Given the description of an element on the screen output the (x, y) to click on. 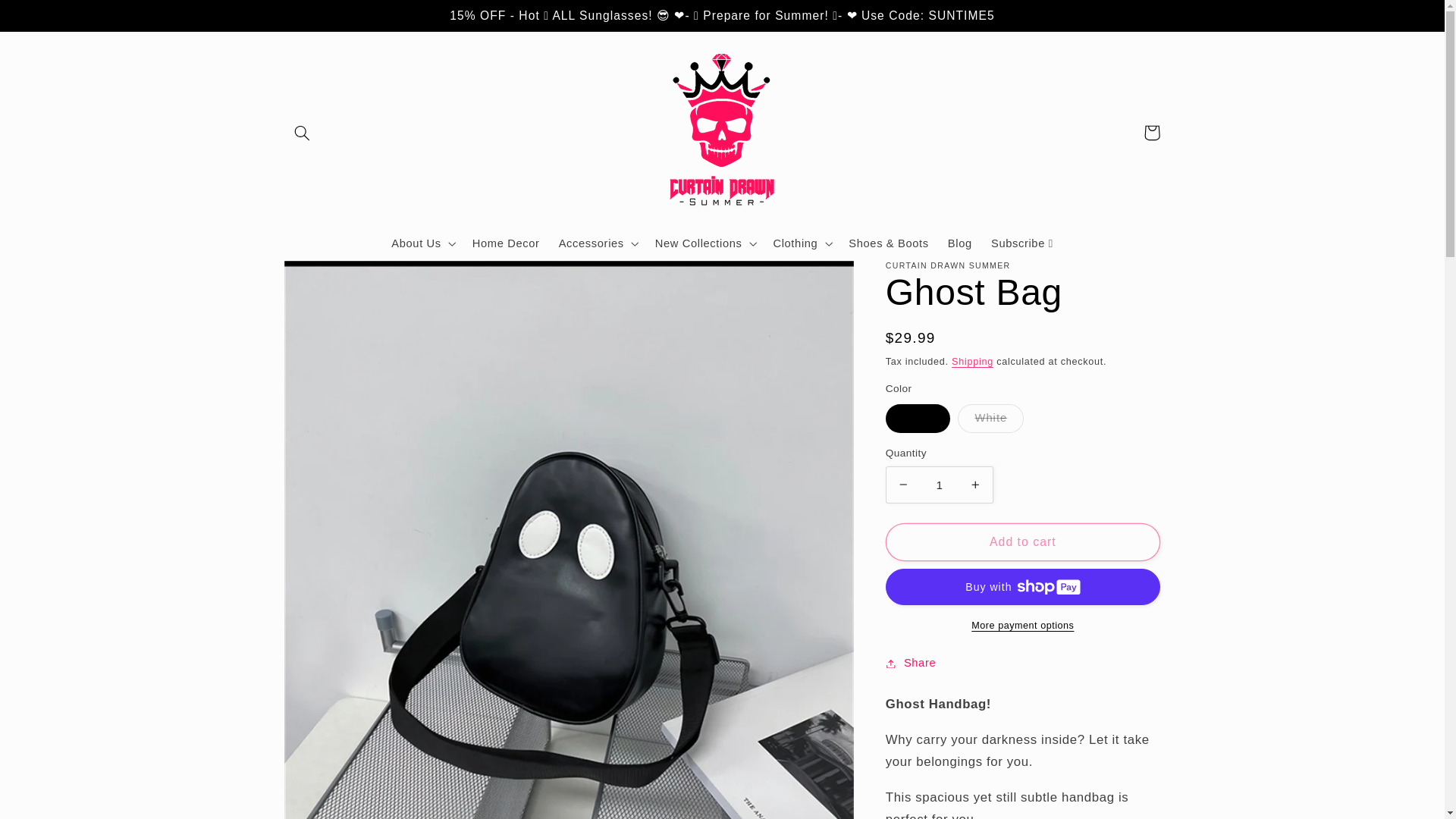
Skip to content (48, 18)
1 (939, 484)
